Given the description of an element on the screen output the (x, y) to click on. 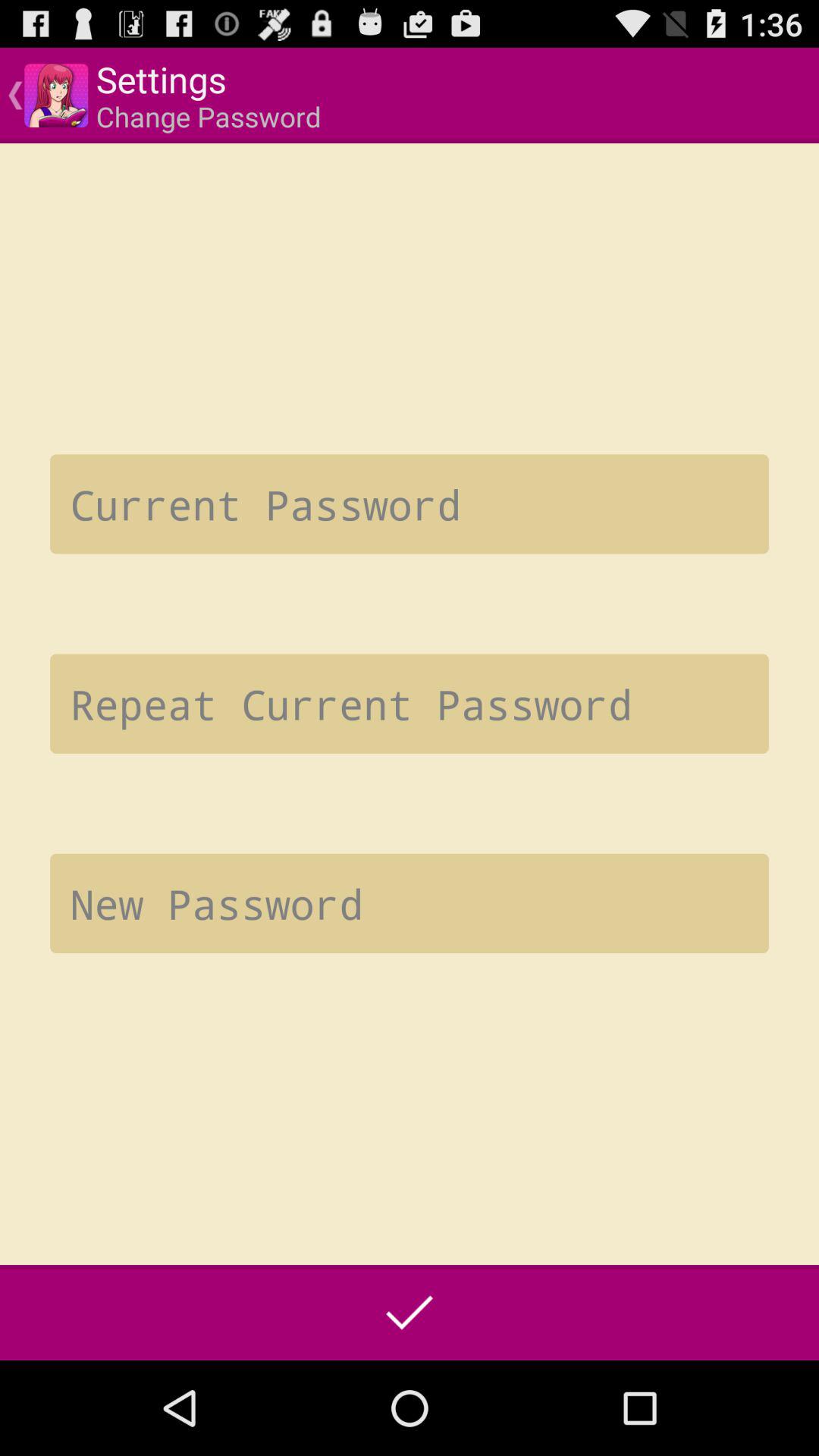
password (409, 903)
